Given the description of an element on the screen output the (x, y) to click on. 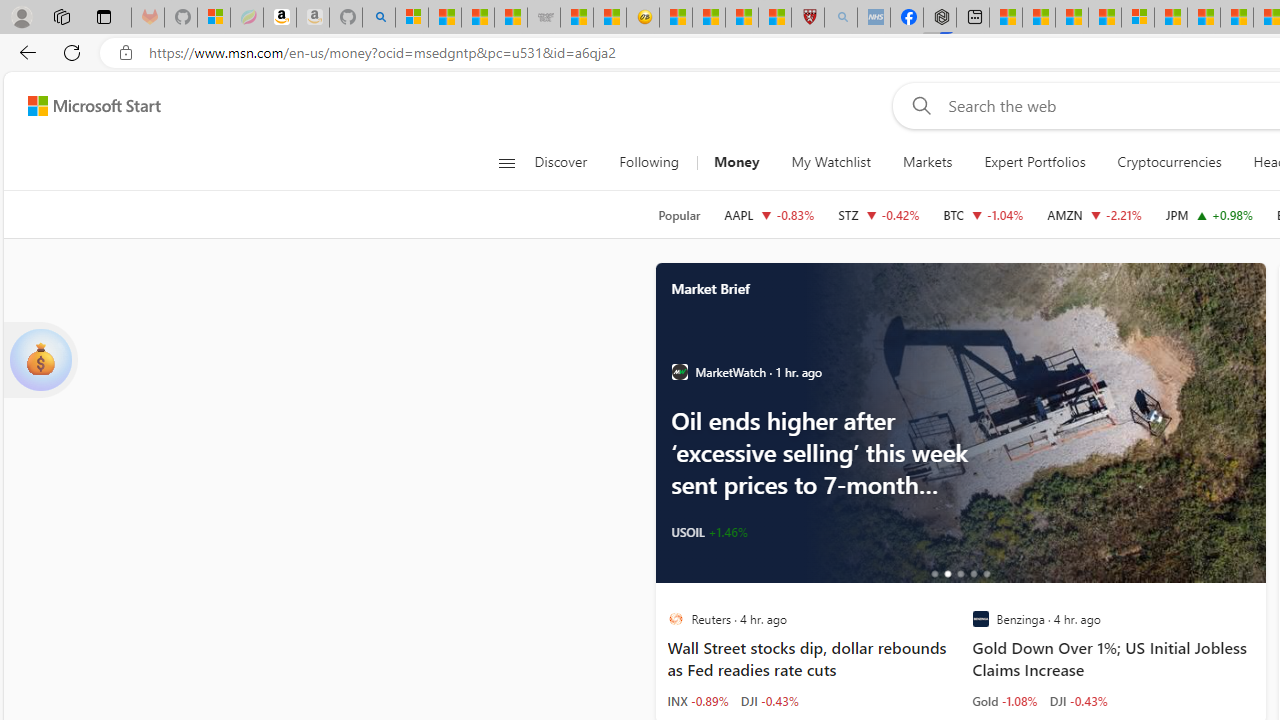
Benzinga (980, 619)
STZ CONSTELLATION BRANDS, INC. decrease 243.70 -1.04 -0.42% (878, 214)
MarketWatch (679, 372)
Science - MSN (741, 17)
AMZN AMAZON.COM, INC. decrease 176.13 -3.98 -2.21% (1094, 214)
DJI -0.43% (1078, 700)
Combat Siege (543, 17)
MSNBC - MSN (478, 17)
Open navigation menu (506, 162)
list of asthma inhalers uk - Search - Sleeping (841, 17)
Oil edges higher after back-to-back weekly gains (1031, 422)
USOIL +1.46% (708, 532)
